Given the description of an element on the screen output the (x, y) to click on. 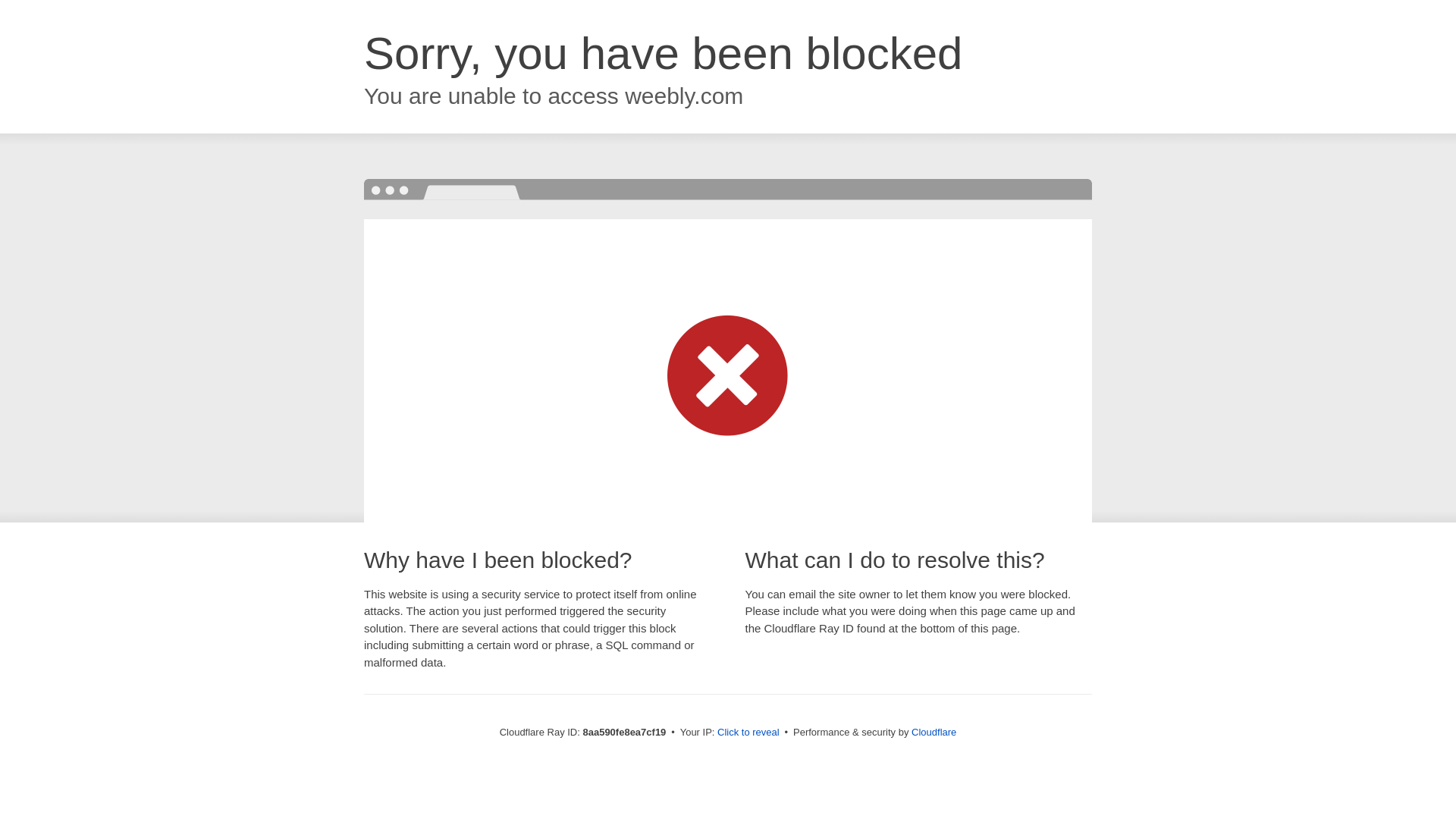
Click to reveal (747, 732)
Cloudflare (933, 731)
